Given the description of an element on the screen output the (x, y) to click on. 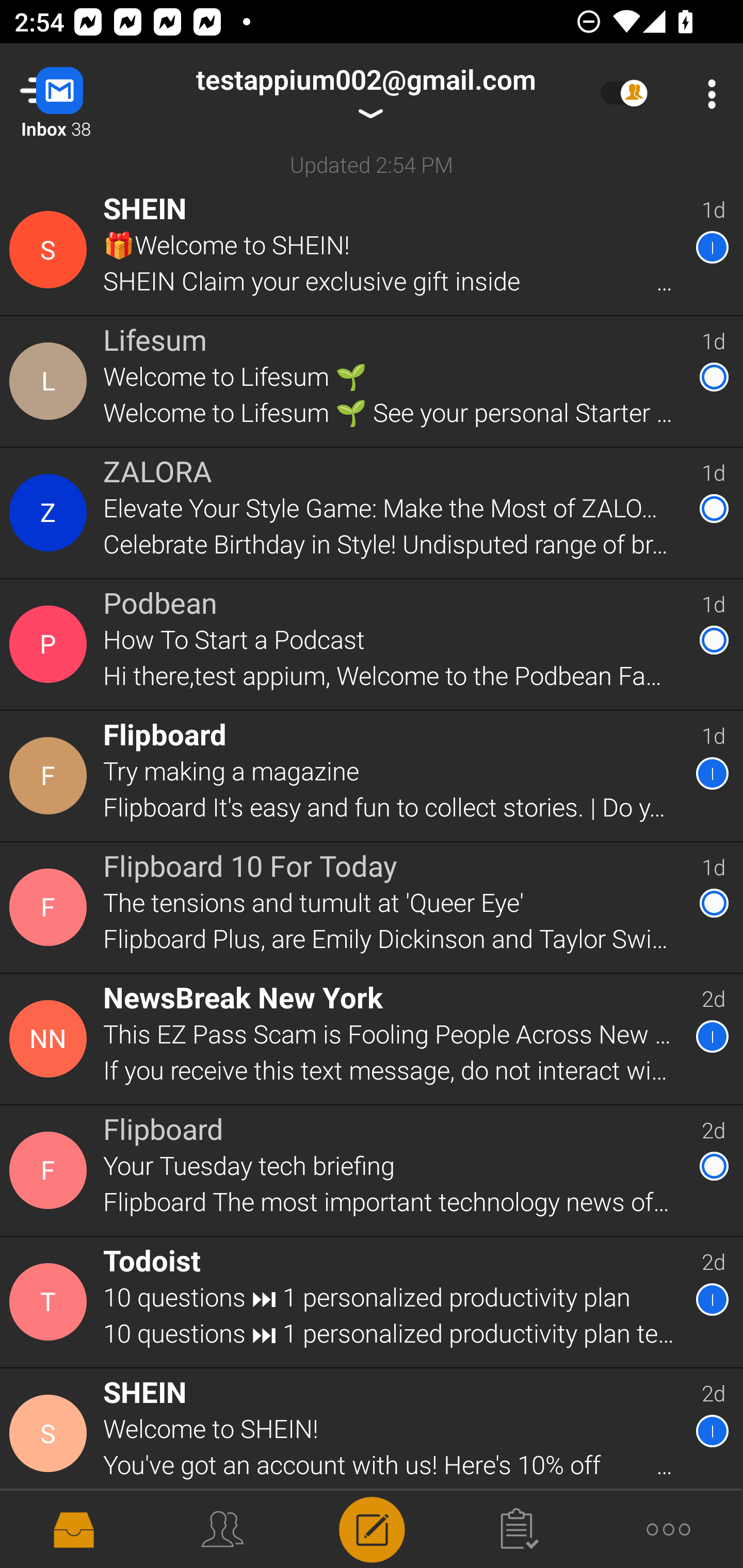
Navigate up (81, 93)
testappium002@gmail.com (365, 93)
More Options (706, 93)
Updated 2:54 PM (371, 164)
Contact Details (50, 250)
Contact Details (50, 381)
Contact Details (50, 513)
Contact Details (50, 644)
Contact Details (50, 776)
Contact Details (50, 907)
Contact Details (50, 1038)
Contact Details (50, 1170)
Contact Details (50, 1302)
Contact Details (50, 1433)
